Given the description of an element on the screen output the (x, y) to click on. 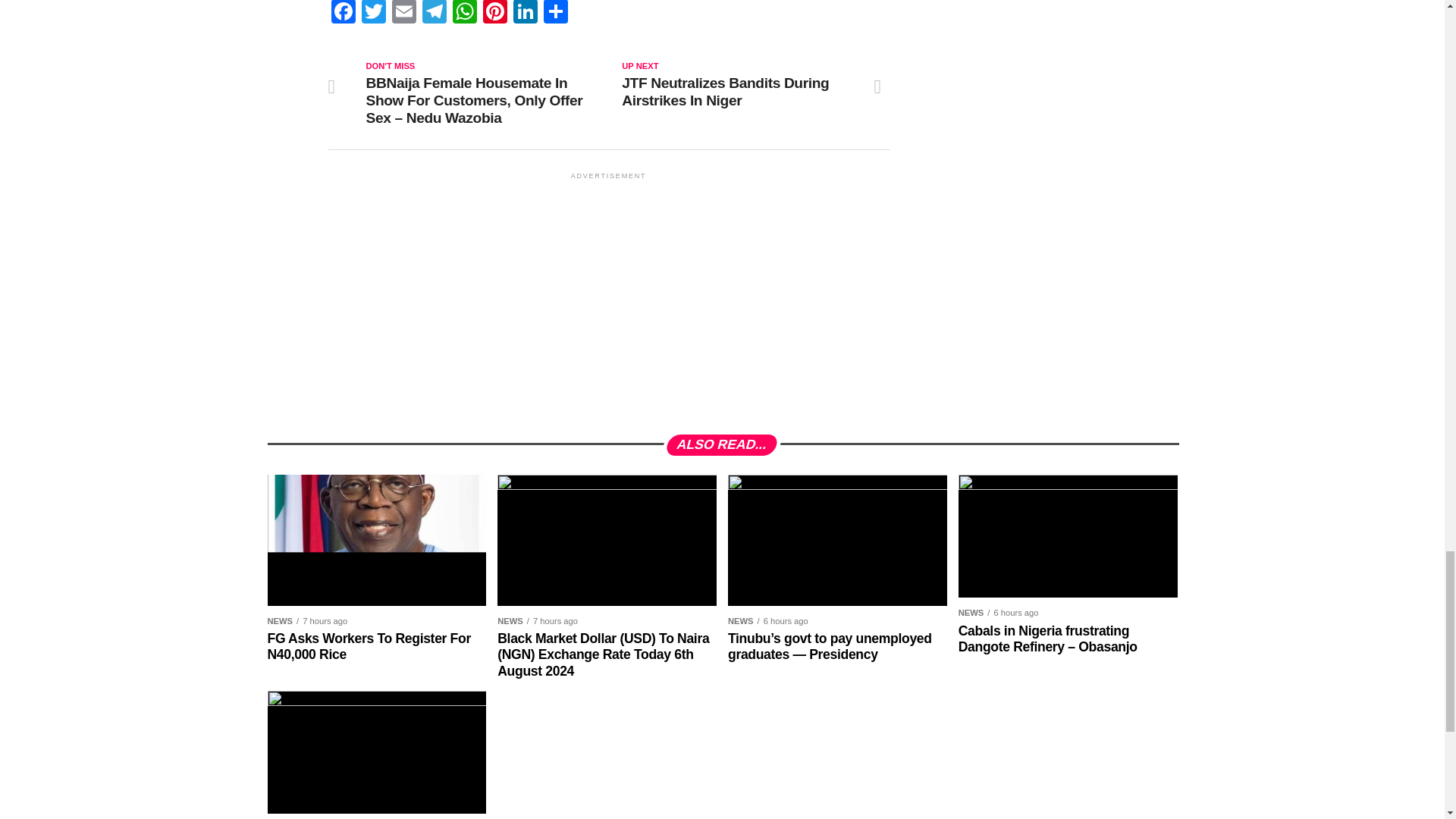
Pinterest (494, 13)
Twitter (373, 13)
WhatsApp (463, 13)
Telegram (433, 13)
Email (403, 13)
Facebook (342, 13)
LinkedIn (524, 13)
